Given the description of an element on the screen output the (x, y) to click on. 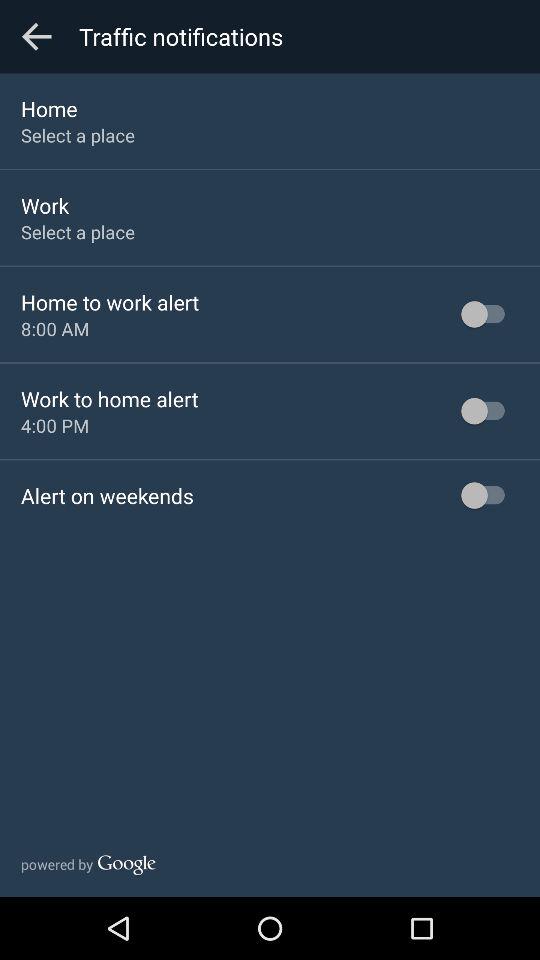
click app below the 4:00 pm (107, 495)
